Given the description of an element on the screen output the (x, y) to click on. 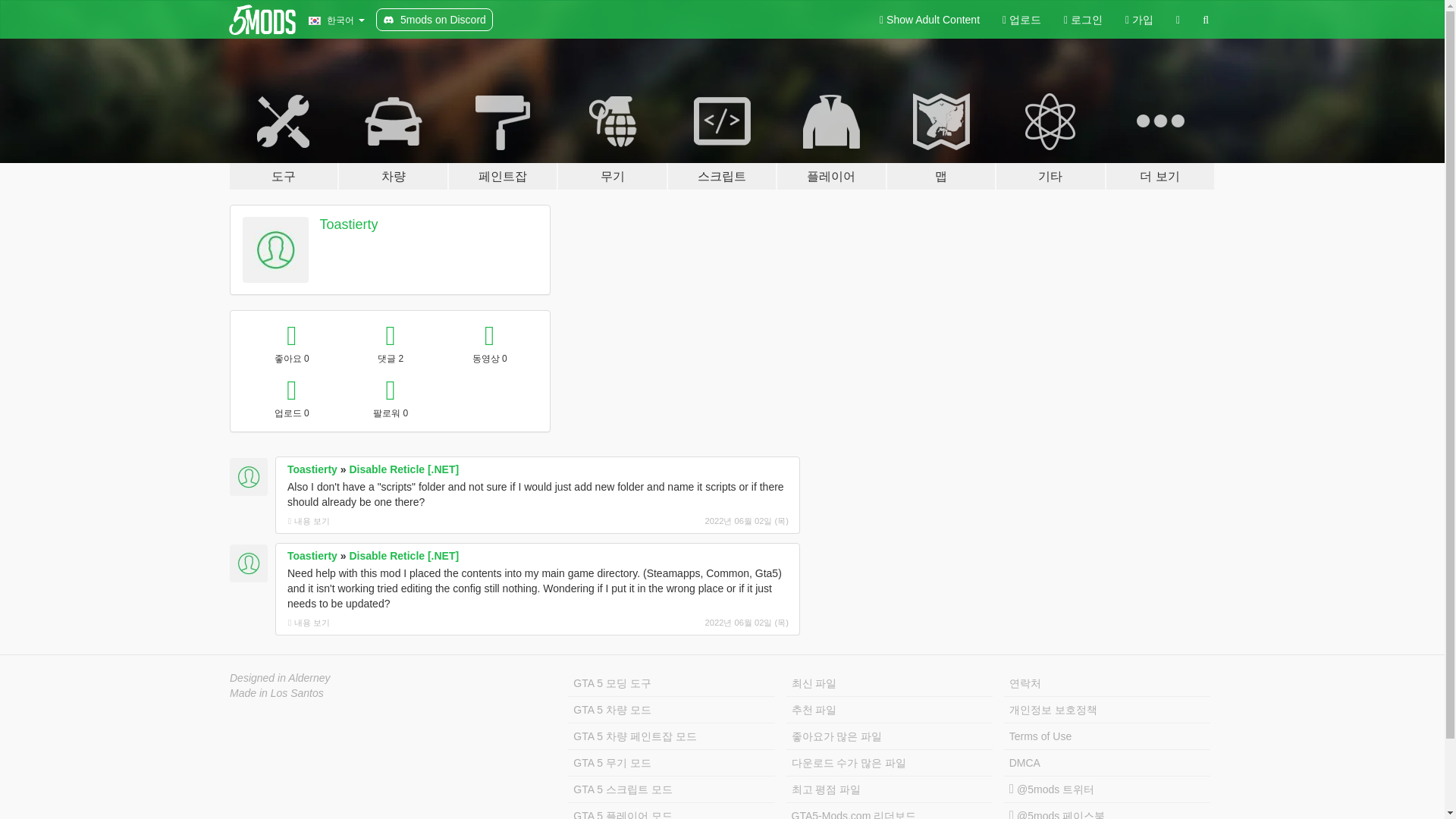
5mods on Discord (434, 19)
Light mode (929, 19)
Show Adult Content (929, 19)
